Given the description of an element on the screen output the (x, y) to click on. 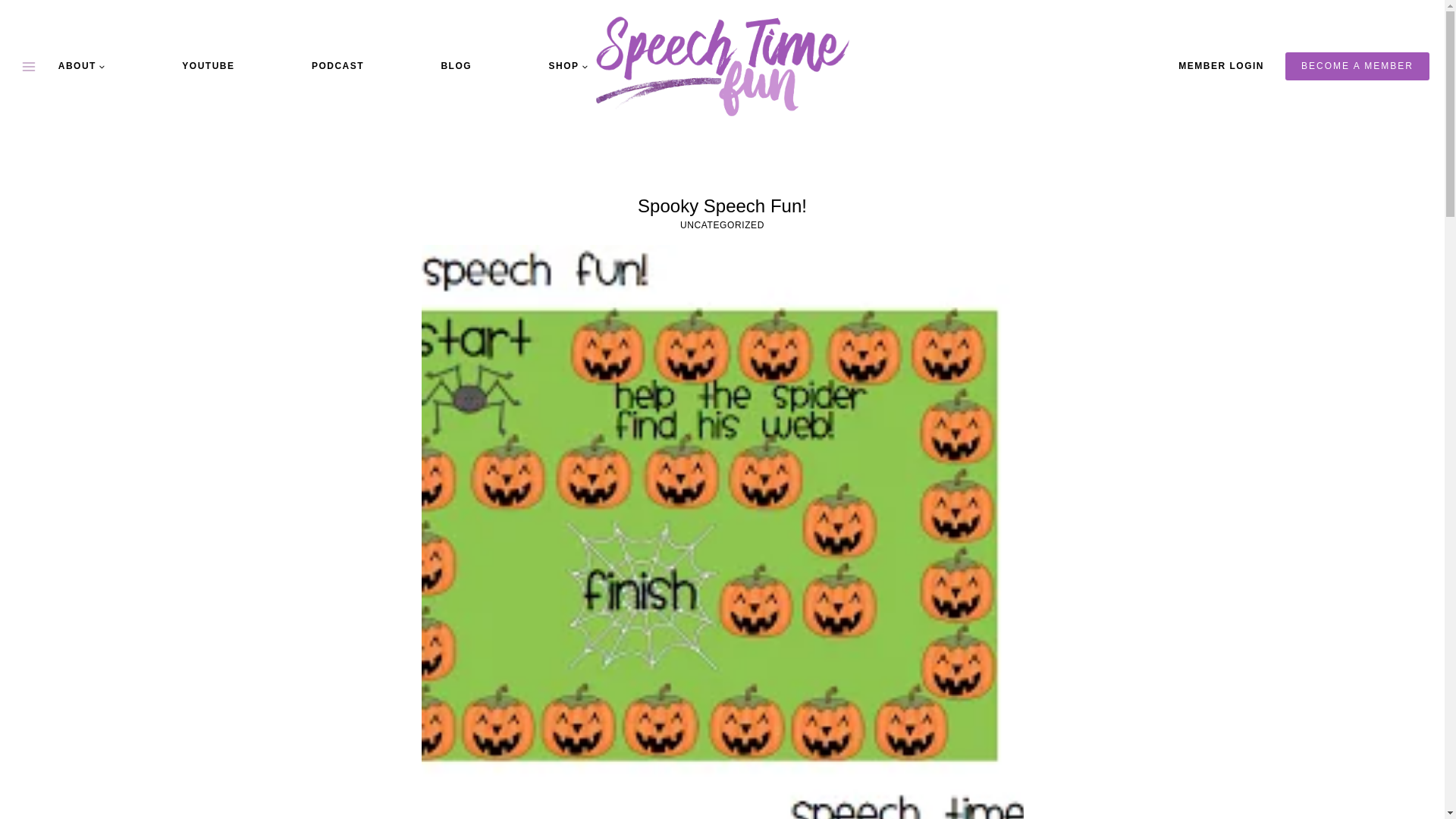
YOUTUBE (207, 65)
UNCATEGORIZED (721, 225)
BECOME A MEMBER (1357, 65)
MEMBER LOGIN (1221, 65)
BLOG (455, 65)
ABOUT (81, 65)
PODCAST (337, 65)
SHOP (567, 65)
